Given the description of an element on the screen output the (x, y) to click on. 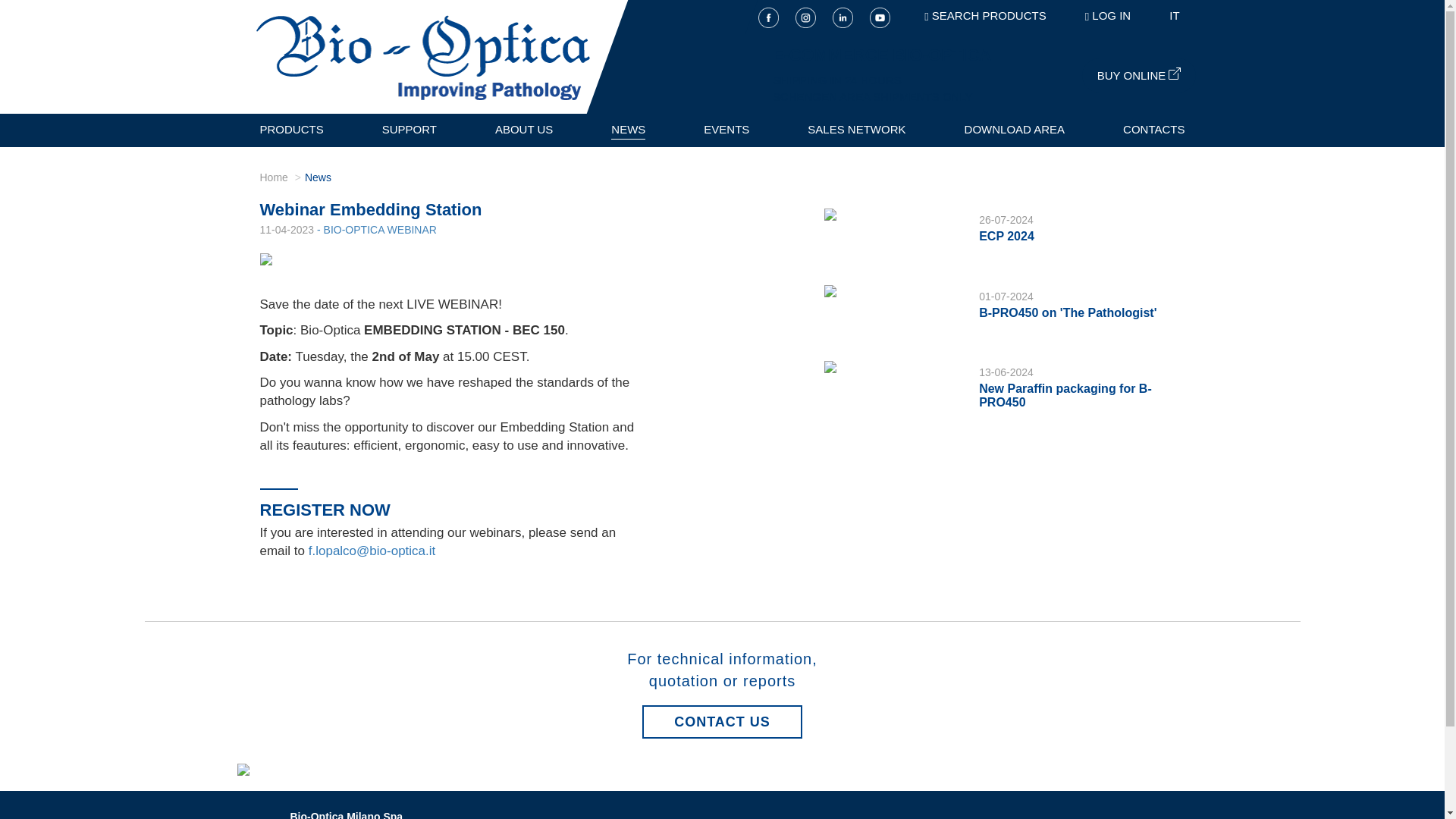
ABOUT US (523, 130)
CONTACTS (1153, 130)
B-PRO450 on 'The Pathologist' (1067, 312)
ECP 2024 (1005, 236)
CONTACT US (722, 721)
SUPPORT (409, 130)
NEWS (627, 130)
EVENTS (726, 130)
Home (272, 177)
PRODUCTS (291, 130)
